Given the description of an element on the screen output the (x, y) to click on. 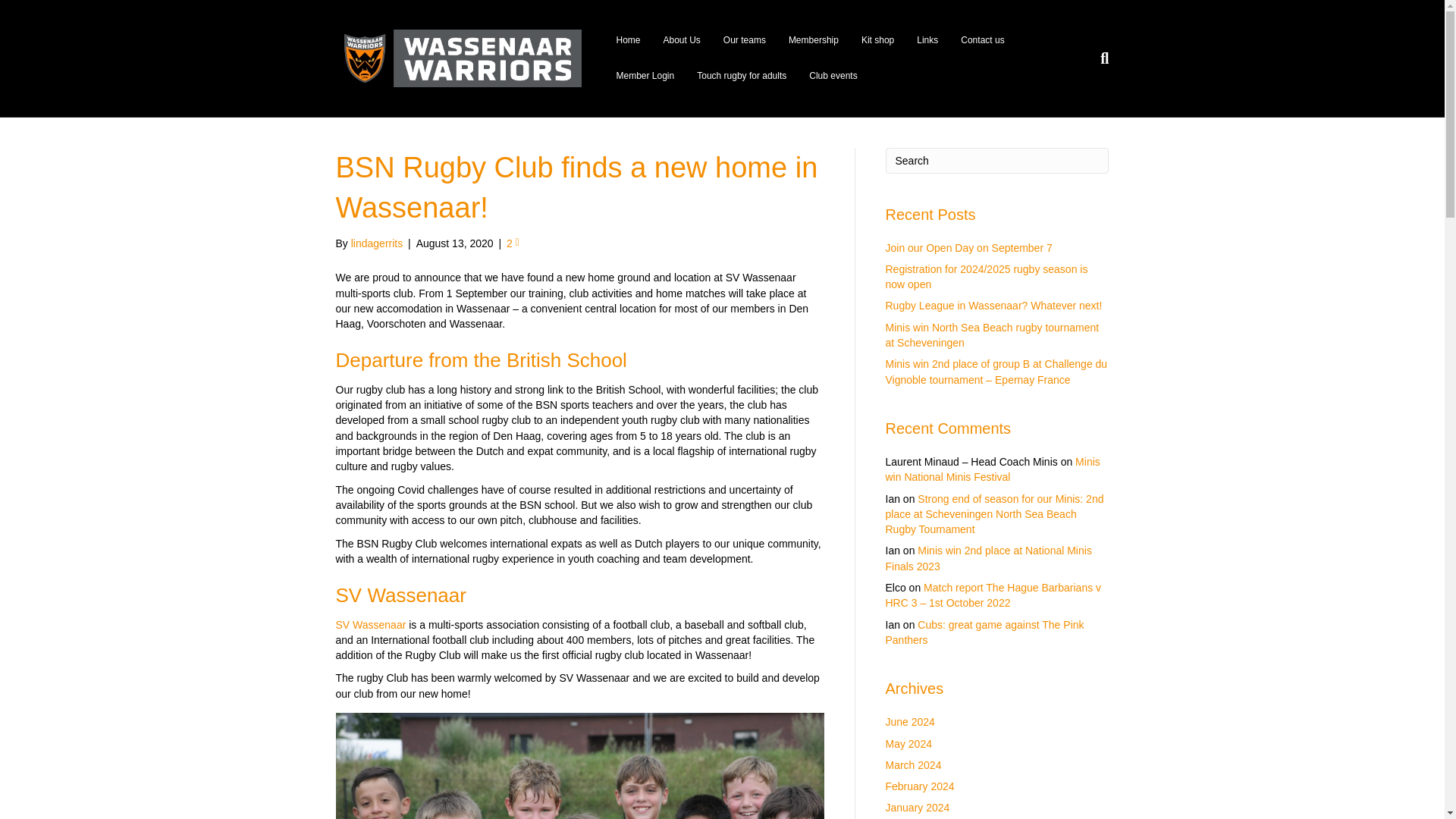
Search (997, 160)
Search (997, 160)
Type and press Enter to search. (997, 160)
Home (627, 40)
About Us (681, 40)
